Given the description of an element on the screen output the (x, y) to click on. 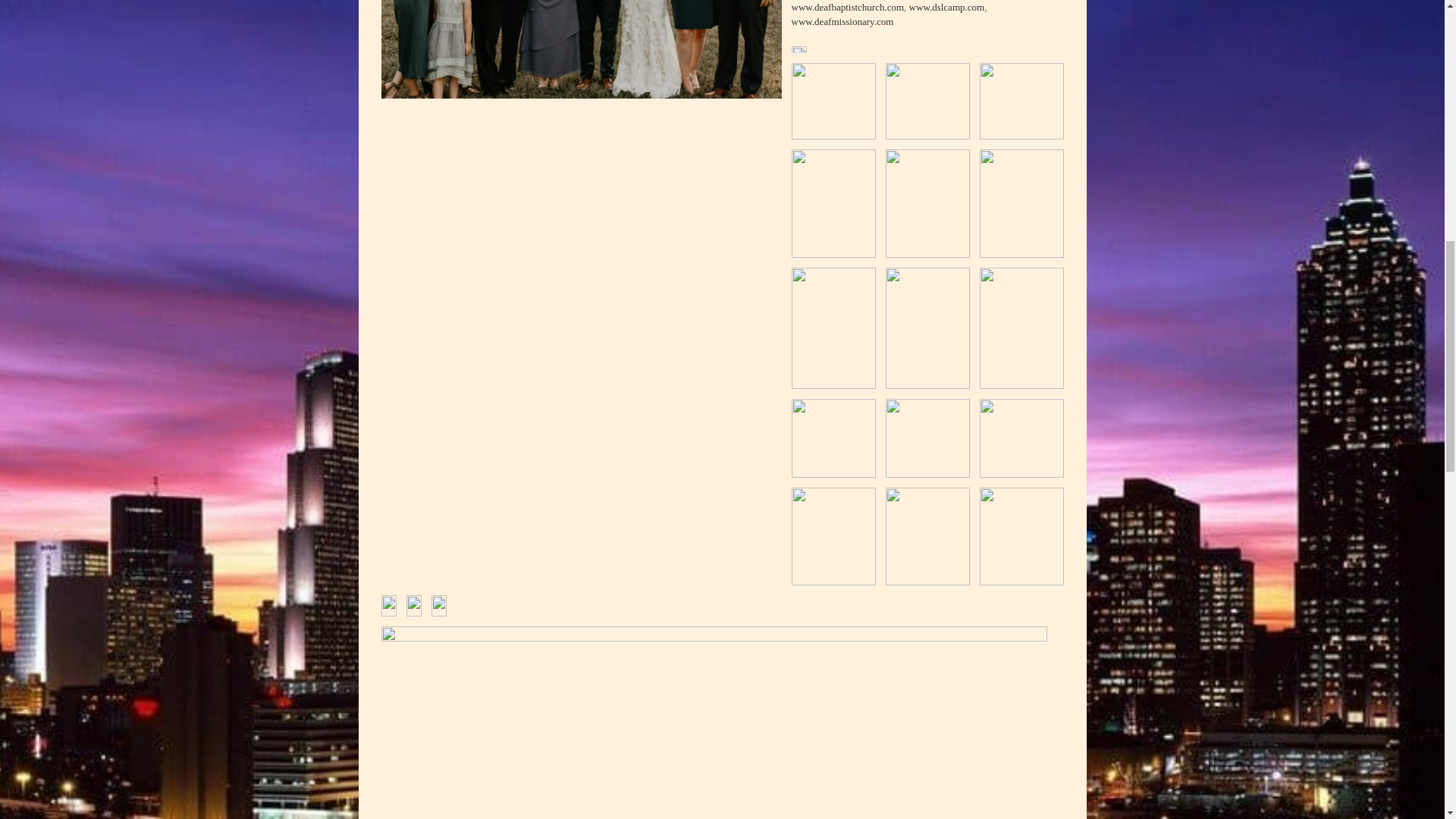
www.deafmissionary.com (842, 21)
www.dslcamp.com (946, 7)
www.deafbaptistchurch.com (848, 7)
